Given the description of an element on the screen output the (x, y) to click on. 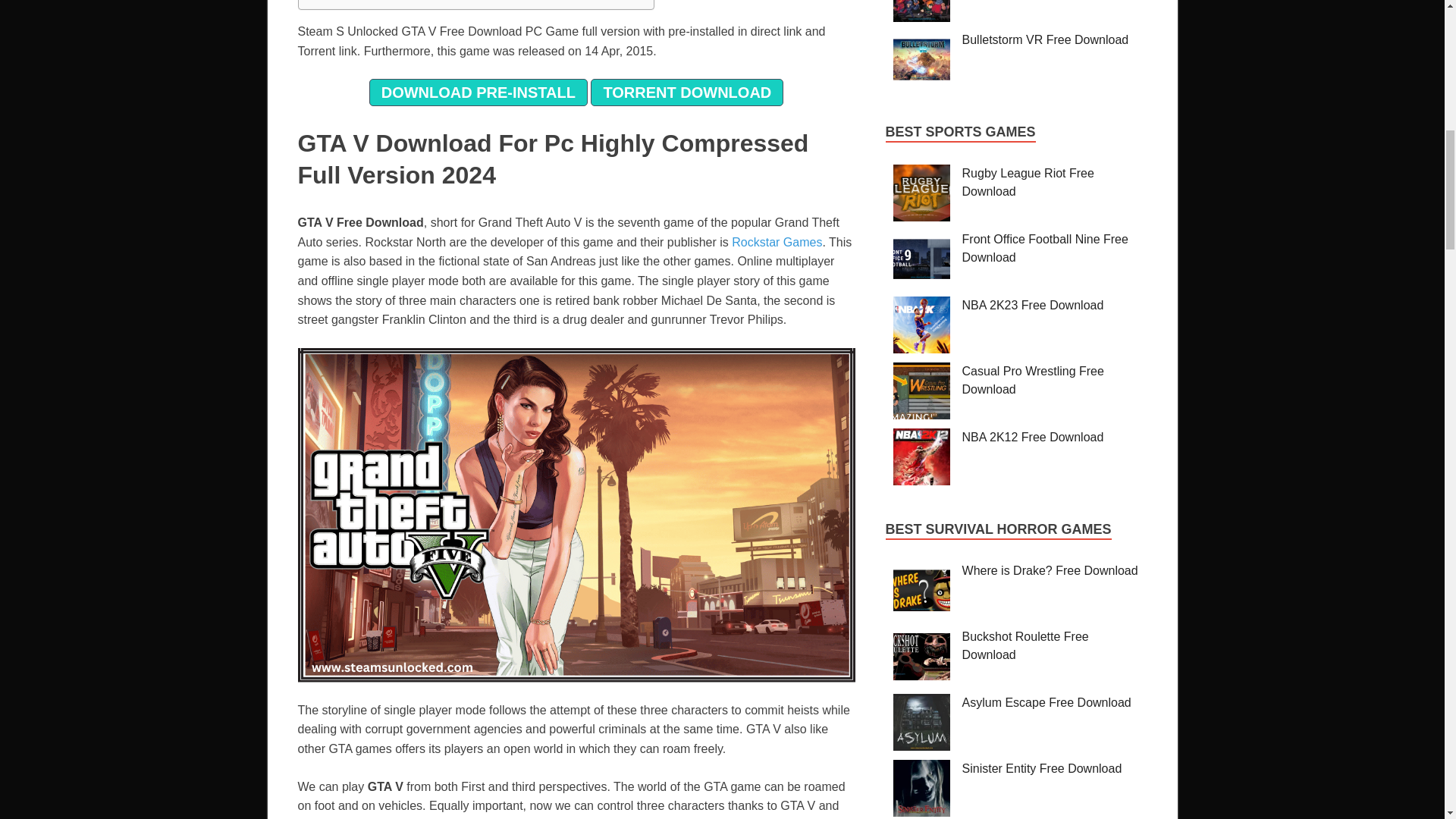
Download Link (349, 0)
